Given the description of an element on the screen output the (x, y) to click on. 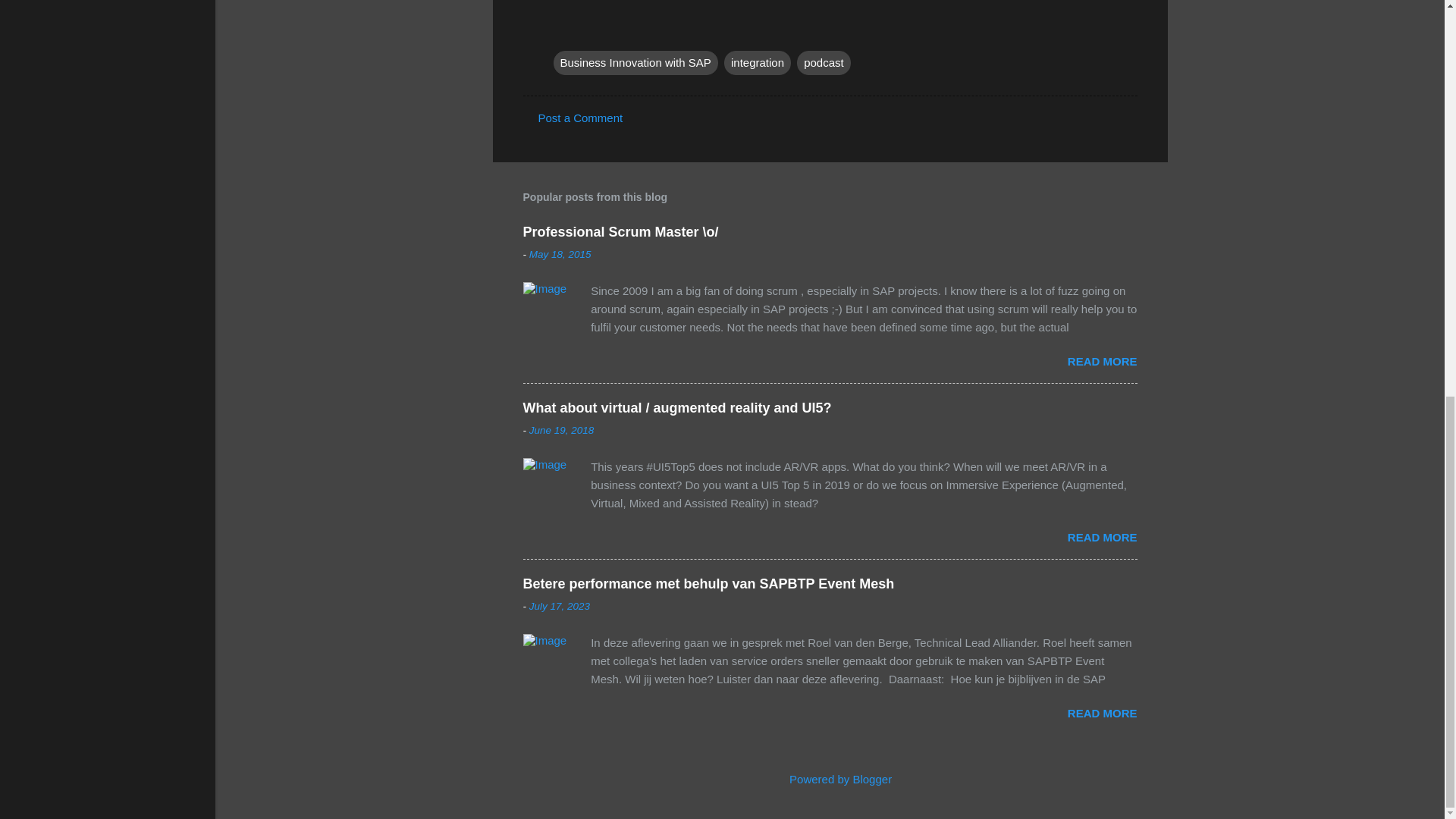
integration (756, 62)
May 18, 2015 (560, 254)
Business Innovation with SAP (635, 62)
Betere performance met behulp van SAPBTP Event Mesh (708, 583)
June 19, 2018 (561, 430)
podcast (823, 62)
July 17, 2023 (559, 605)
READ MORE (1102, 712)
Post a Comment (580, 117)
permanent link (560, 254)
READ MORE (1102, 536)
READ MORE (1102, 360)
Powered by Blogger (829, 779)
